Given the description of an element on the screen output the (x, y) to click on. 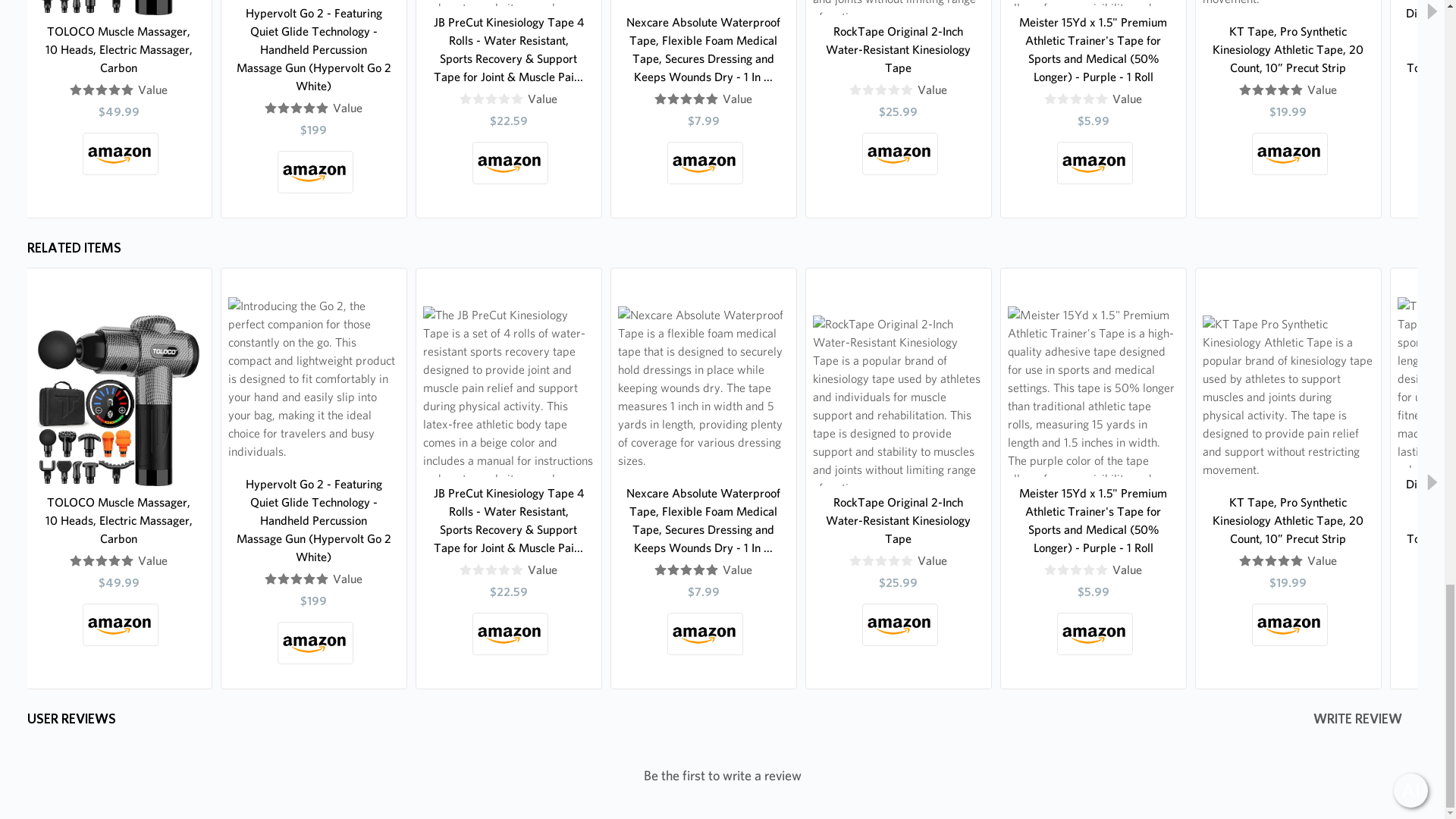
4.5 (296, 108)
4.5 (686, 99)
0 (492, 99)
0 (881, 90)
4.5 (101, 90)
